Given the description of an element on the screen output the (x, y) to click on. 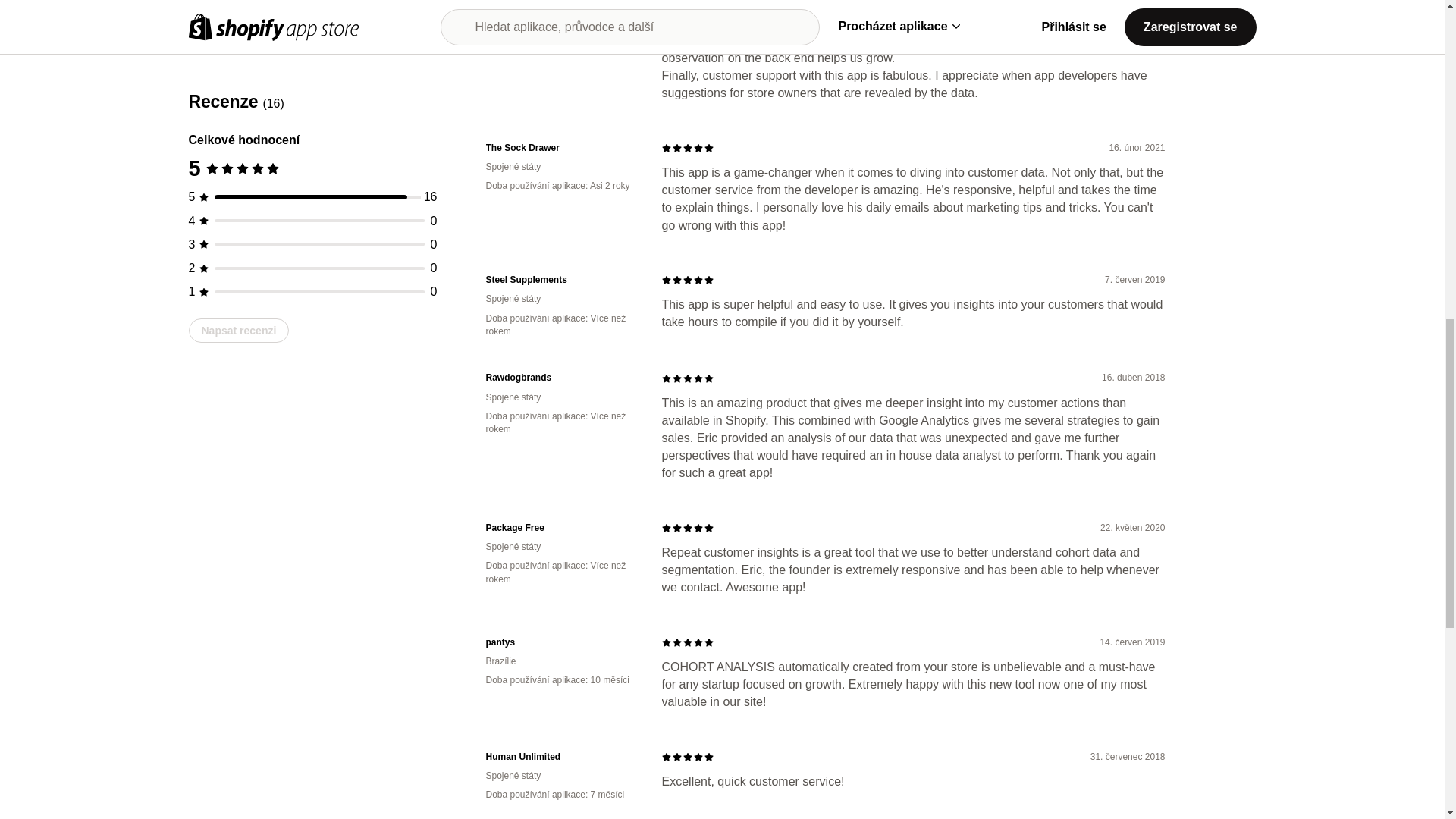
Steel Supplements (560, 279)
Rawdogbrands (560, 377)
Human Unlimited (560, 757)
pantys (560, 642)
Package Free (560, 527)
The Sock Drawer (560, 147)
